Given the description of an element on the screen output the (x, y) to click on. 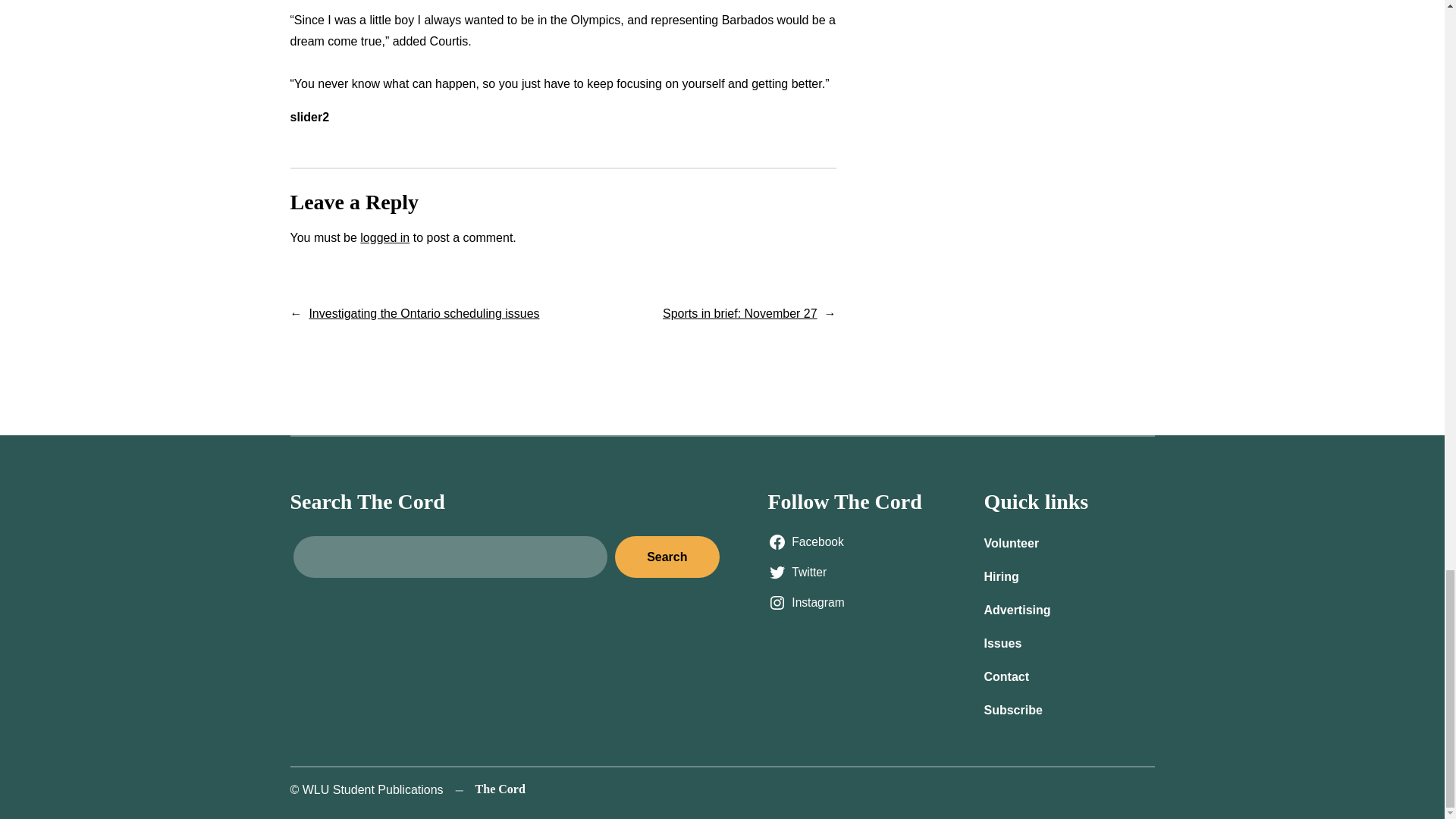
logged in (384, 237)
Investigating the Ontario scheduling issues (423, 313)
slider2 (309, 116)
Sports in brief: November 27 (739, 313)
